Given the description of an element on the screen output the (x, y) to click on. 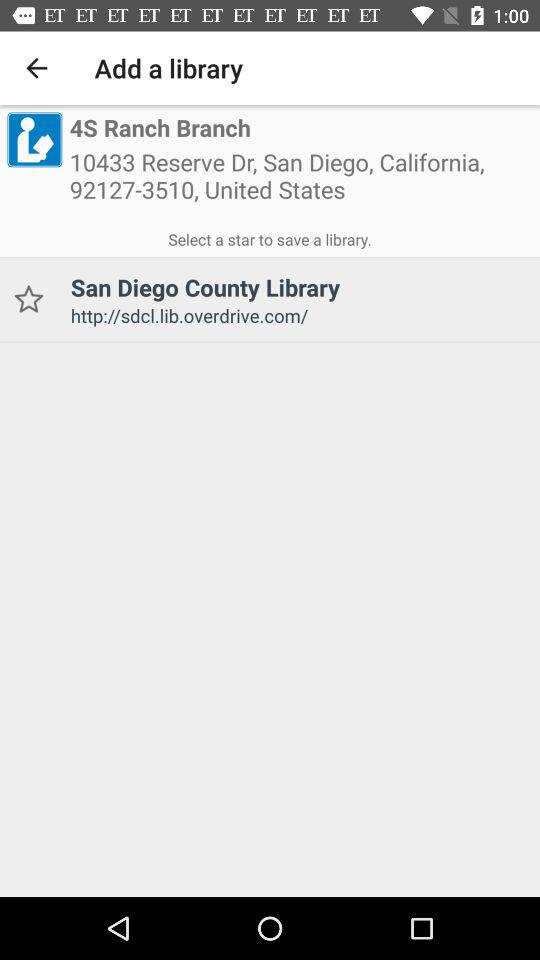
flip until 10433 reserve dr item (301, 182)
